Given the description of an element on the screen output the (x, y) to click on. 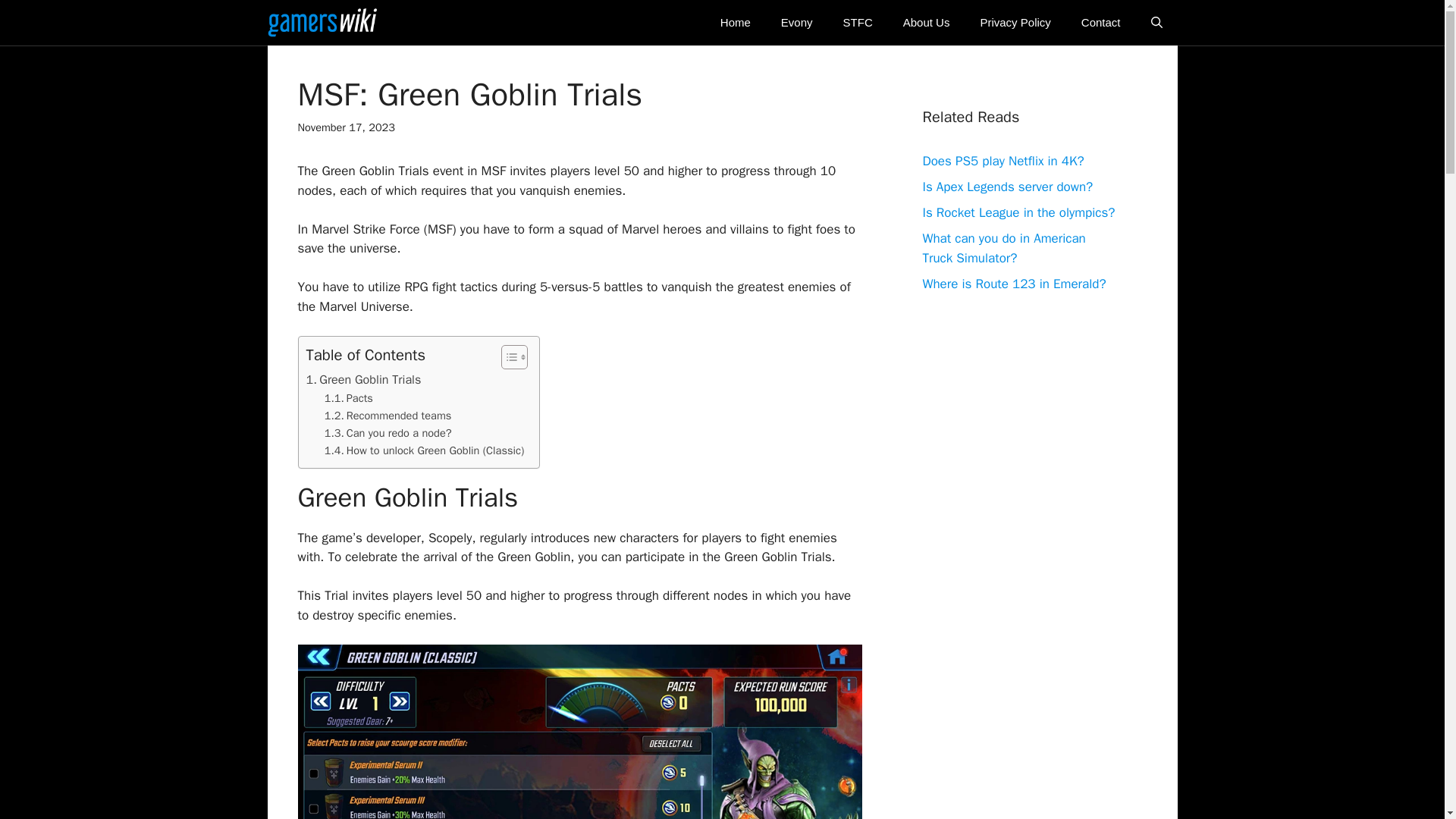
Can you redo a node? (387, 433)
Green Goblin Trials (363, 379)
Recommended teams (387, 416)
Recommended teams (387, 416)
Pacts (348, 398)
Contact (1100, 22)
Evony (796, 22)
About Us (926, 22)
Privacy Policy (1014, 22)
Pacts (348, 398)
